Given the description of an element on the screen output the (x, y) to click on. 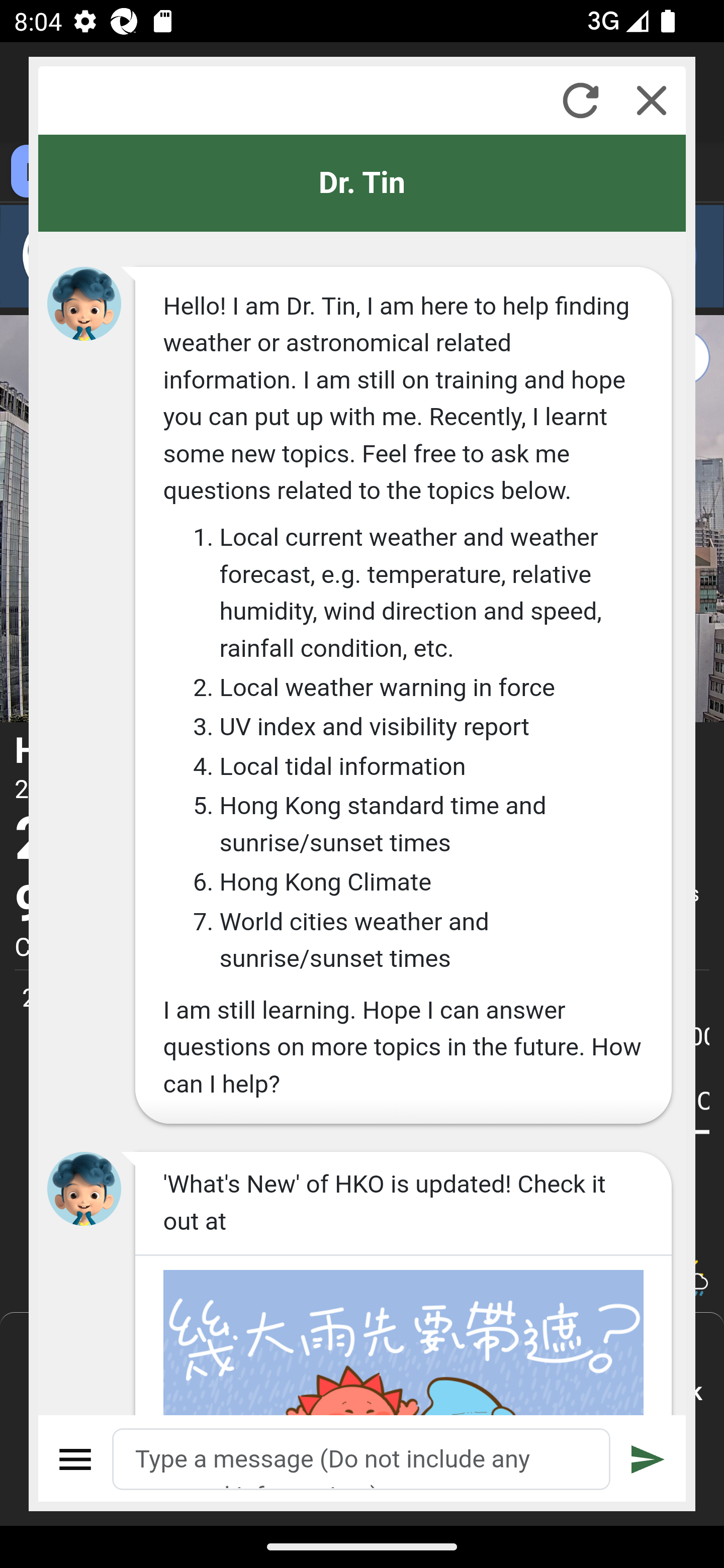
Refresh (580, 100)
Close (651, 100)
Menu (75, 1458)
Submit (648, 1458)
